Given the description of an element on the screen output the (x, y) to click on. 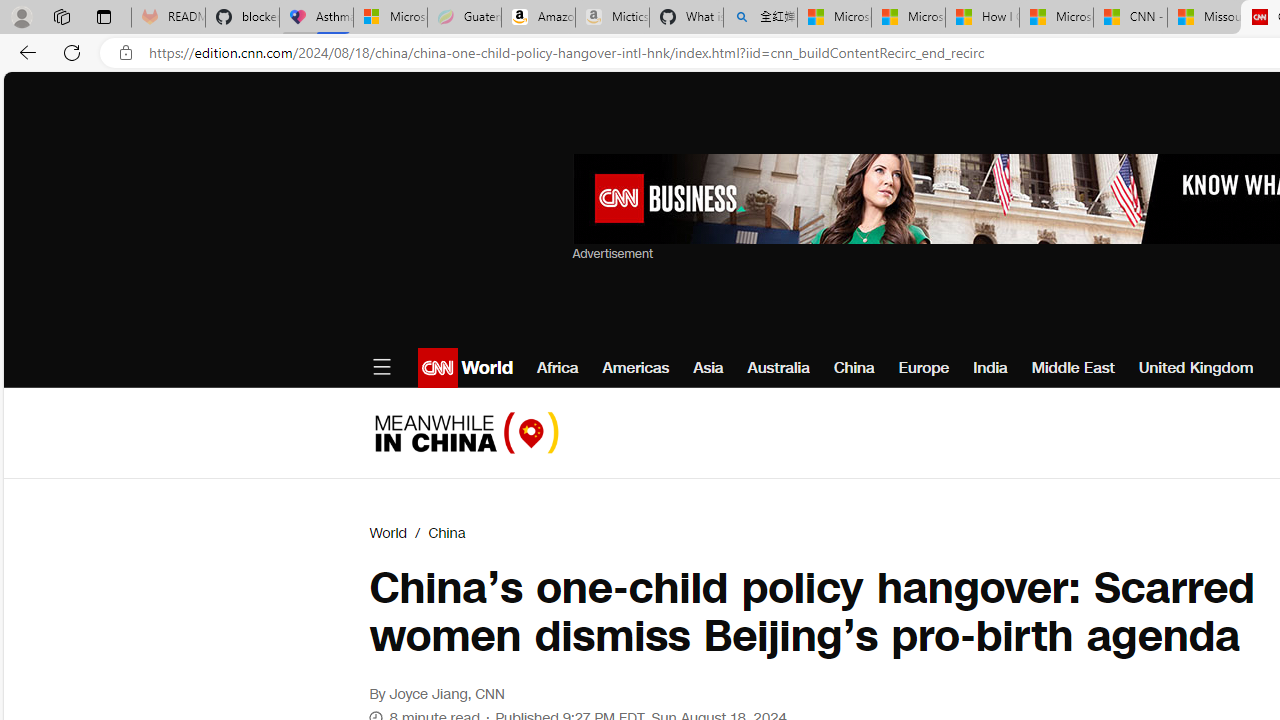
Australia (778, 367)
Americas (635, 367)
CNN logo (437, 367)
Africa (557, 367)
